Given the description of an element on the screen output the (x, y) to click on. 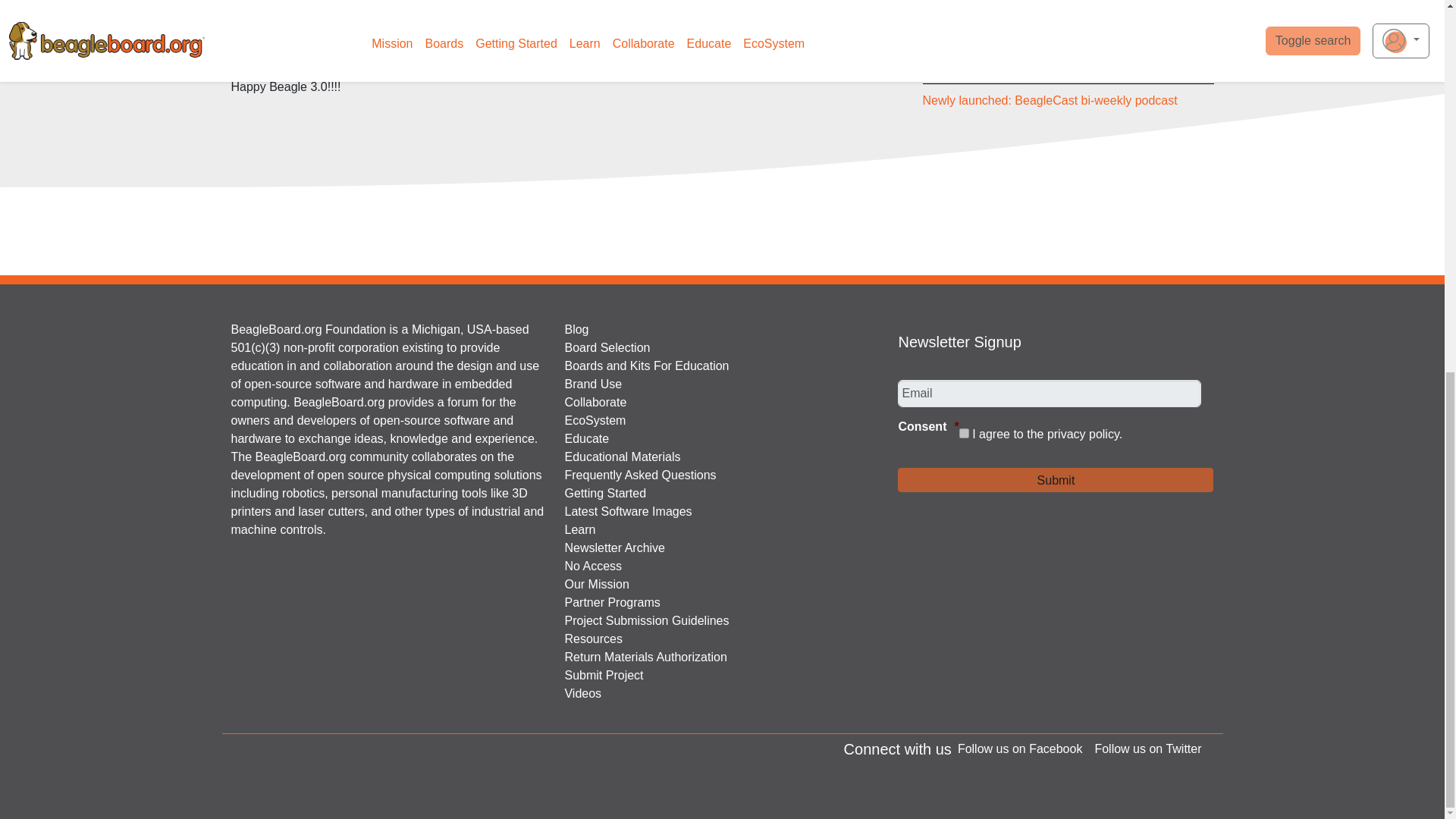
Follow us on Facebook (1020, 749)
Submit (1055, 479)
Linaro 11.06 Android evaluation build (499, 38)
Follow us on Twitter (1141, 749)
1 (964, 433)
